Given the description of an element on the screen output the (x, y) to click on. 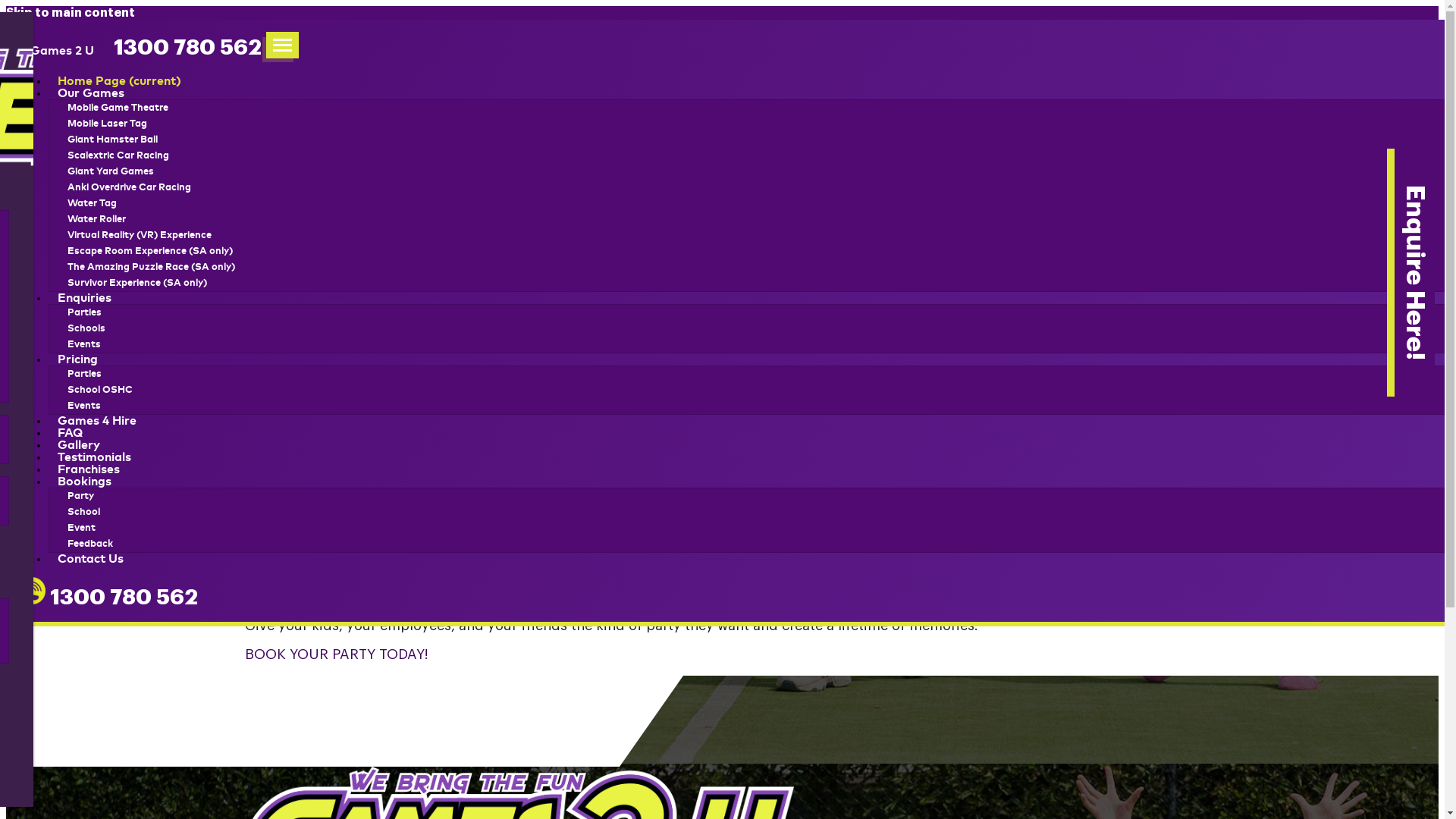
1300 780 562 Element type: text (187, 47)
1300 780 562 Element type: text (107, 597)
Home Page (current) Element type: text (119, 81)
Regional NSW Element type: text (296, 135)
Pricing Element type: text (77, 359)
Franchises Element type: text (88, 469)
Games 4 Hire Element type: text (96, 420)
Testimonials Element type: text (94, 457)
Enquiries Element type: text (84, 297)
Gallery Element type: text (78, 445)
FAQ Element type: text (69, 432)
Contact Us Element type: text (90, 558)
Our Games Element type: text (90, 93)
BOOK YOUR PARTY TODAY! Element type: text (336, 654)
Skip to main content Element type: text (70, 12)
Bookings Element type: text (84, 481)
